Given the description of an element on the screen output the (x, y) to click on. 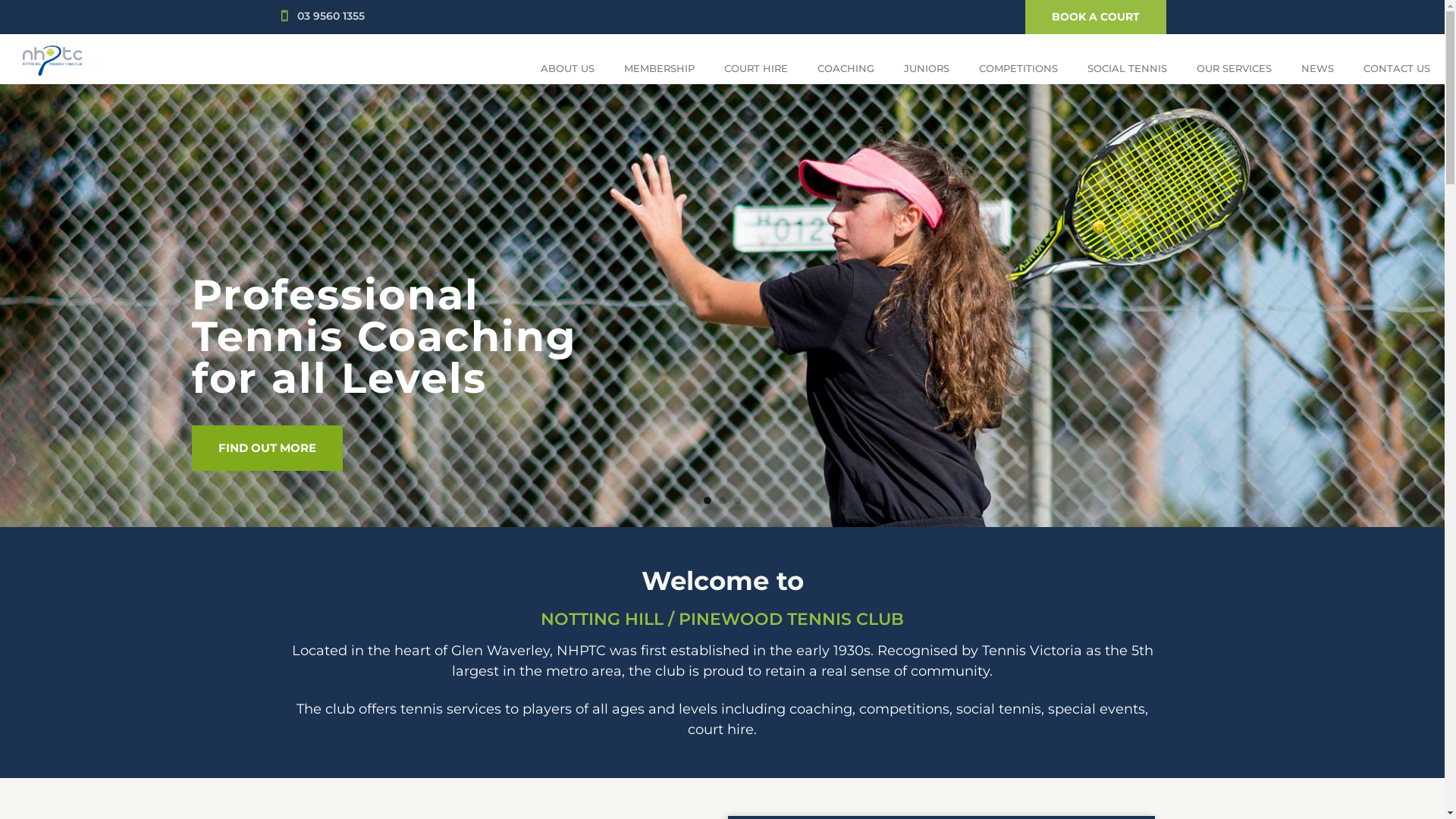
MEMBERSHIP Element type: text (658, 68)
COURT HIRE Element type: text (755, 68)
03 9560 1355 Element type: text (330, 15)
COACHING Element type: text (845, 68)
NEWS Element type: text (1317, 68)
OUR SERVICES Element type: text (1233, 68)
COMPETITIONS Element type: text (1017, 68)
CONTACT US Element type: text (1396, 68)
FIND OUT MORE Element type: text (266, 447)
ABOUT US Element type: text (566, 68)
SOCIAL TENNIS Element type: text (1126, 68)
JUNIORS Element type: text (925, 68)
BOOK A COURT Element type: text (1095, 17)
